Given the description of an element on the screen output the (x, y) to click on. 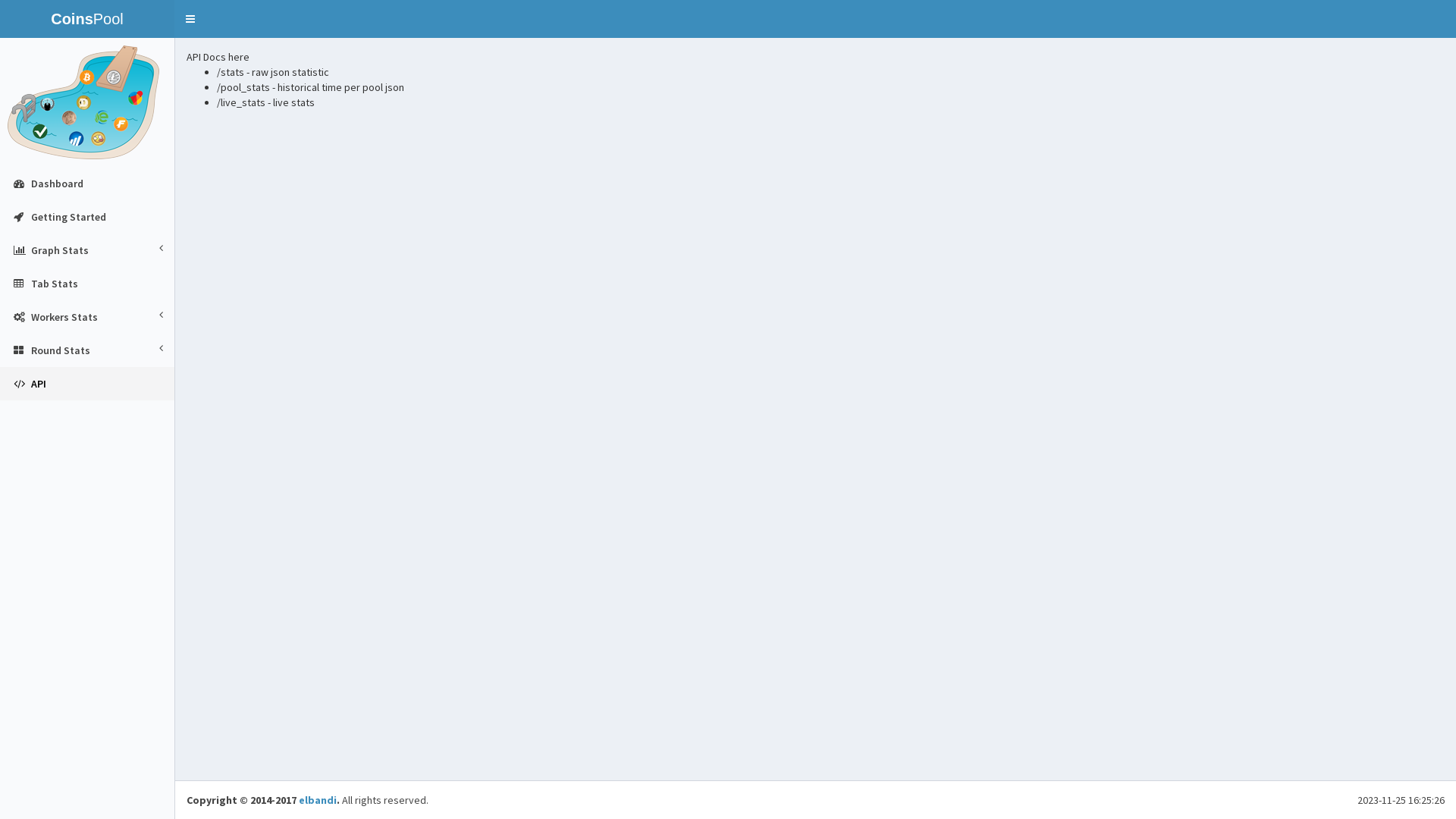
Round Stats Element type: text (87, 350)
Dashboard Element type: text (87, 183)
API Element type: text (87, 383)
Graph Stats Element type: text (87, 249)
Toggle navigation Element type: text (190, 18)
elbandi Element type: text (317, 799)
Tab Stats Element type: text (87, 283)
Workers Stats Element type: text (87, 316)
CoinsPool Element type: text (87, 18)
Getting Started Element type: text (87, 216)
